Given the description of an element on the screen output the (x, y) to click on. 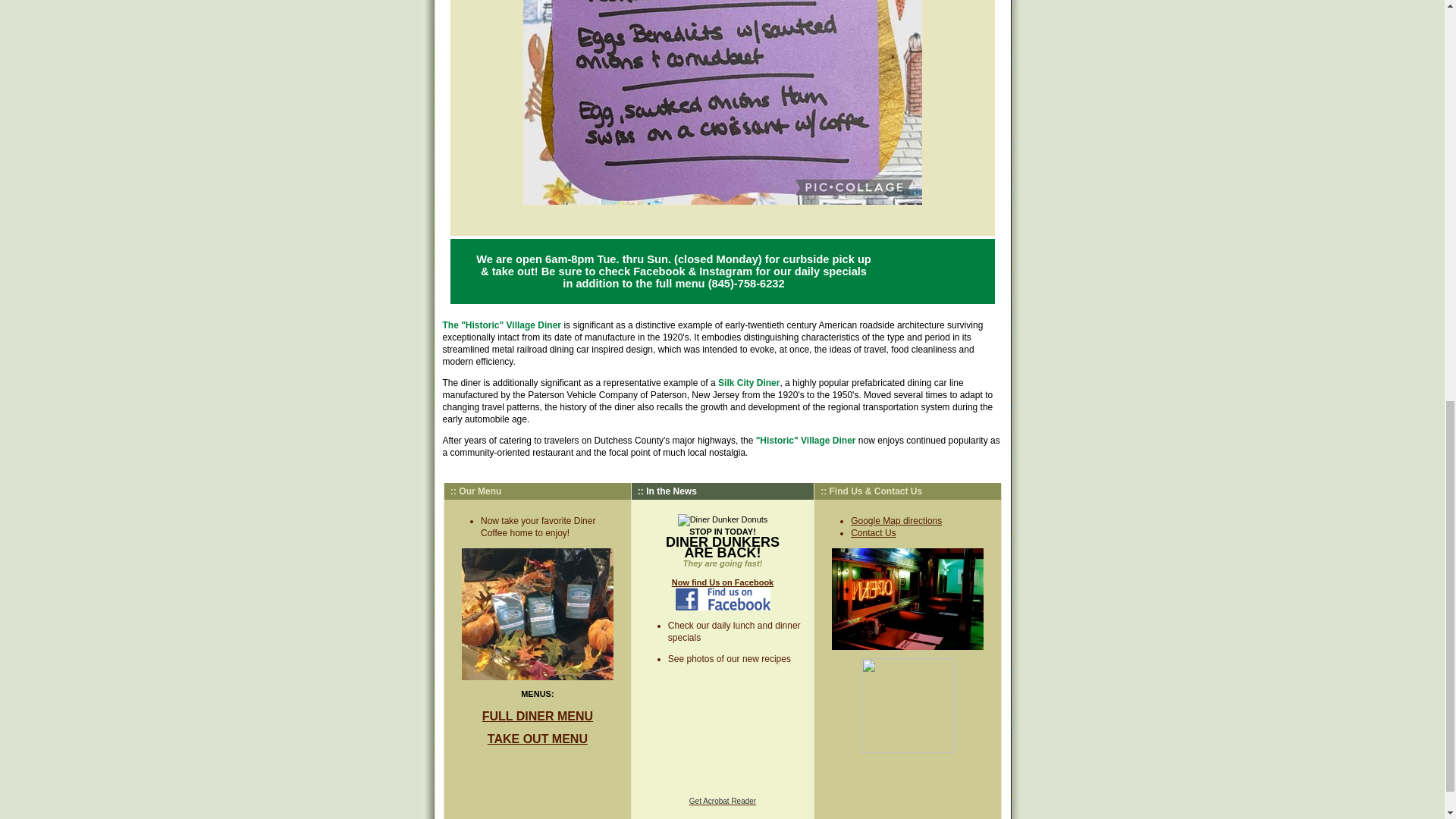
FULL DINER MENU (536, 716)
Contact Us (872, 532)
TAKE OUT MENU (537, 738)
Now find Us on Facebook (722, 594)
Google Map directions (896, 520)
Get Acrobat Reader (721, 800)
